Given the description of an element on the screen output the (x, y) to click on. 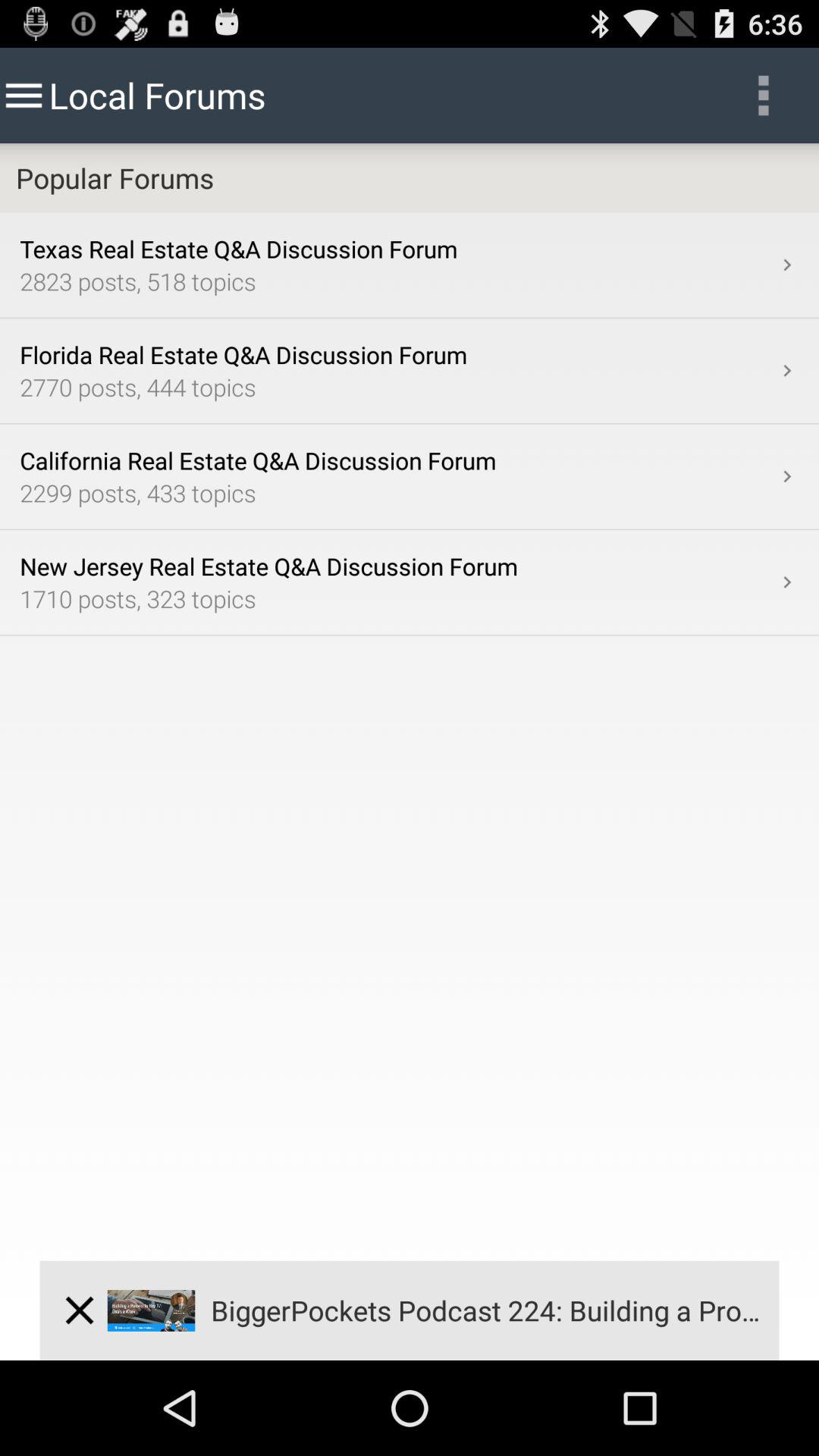
select 2823 posts 518 item (397, 281)
